Given the description of an element on the screen output the (x, y) to click on. 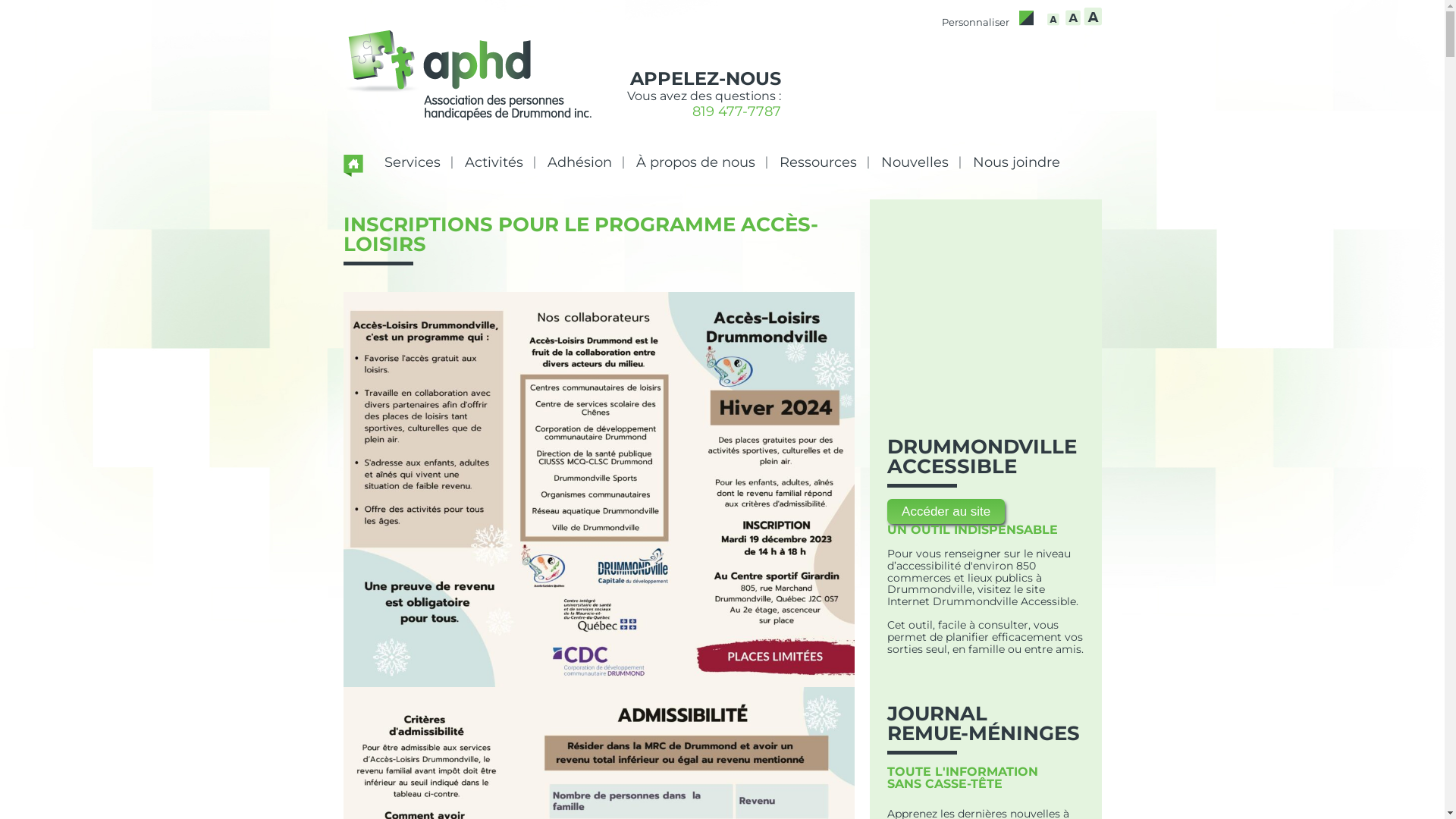
Nouvelles Element type: text (914, 162)
Aller au contenu principal Element type: text (789, 149)
Services Element type: text (412, 162)
Nous joindre Element type: text (1016, 162)
APHD Element type: hover (466, 80)
Ressources Element type: text (818, 162)
